Given the description of an element on the screen output the (x, y) to click on. 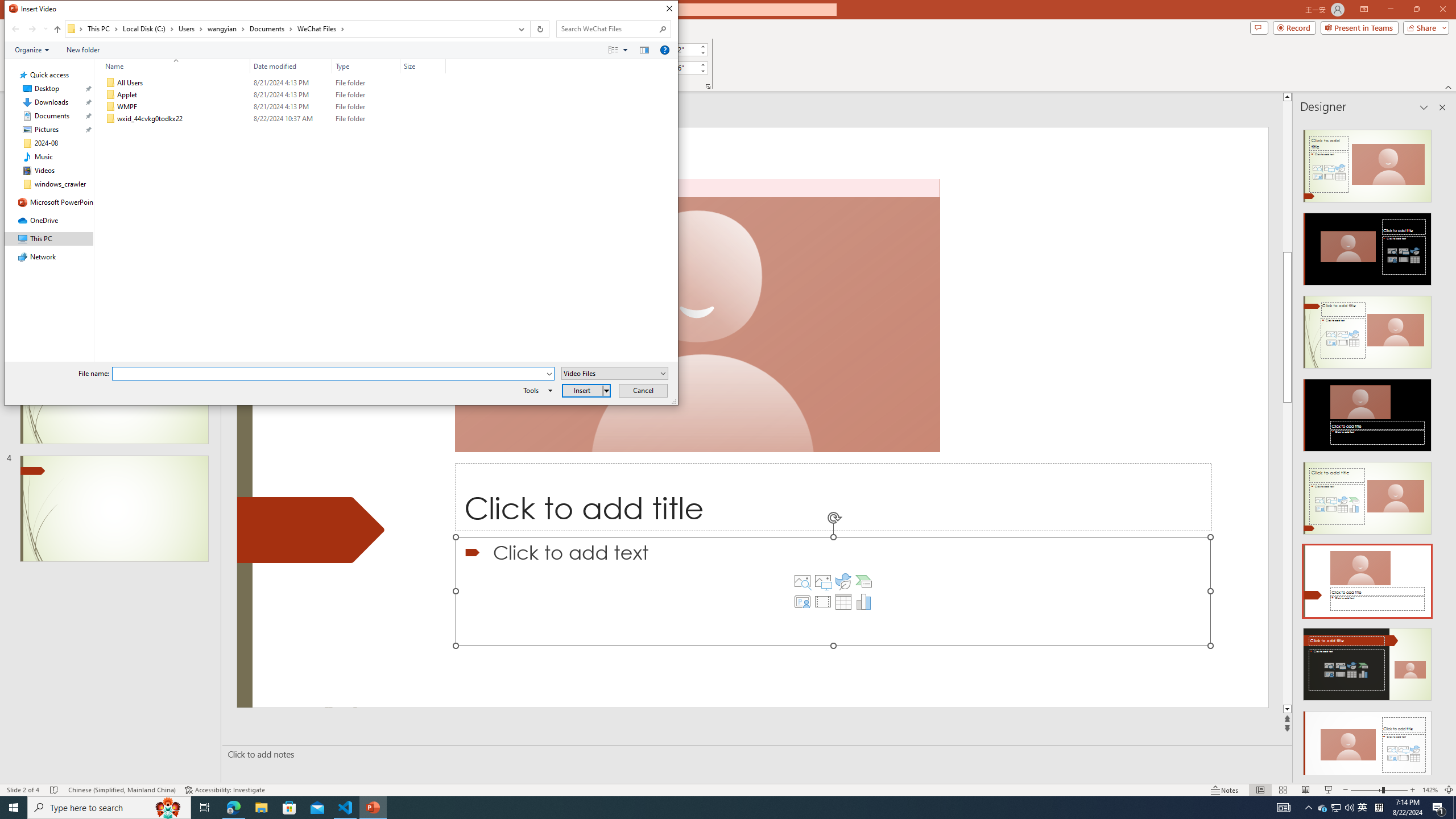
Up to "Documents" (Alt + Up Arrow) (57, 29)
Zoom 142% (1430, 790)
Command Module (341, 49)
New folder (82, 49)
File name: (333, 373)
Files of type: (615, 373)
Slide Notes (754, 754)
wxid_44cvkg0todkx22 (273, 119)
This PC (102, 28)
Filter dropdown (440, 65)
PowerPoint - 1 running window (373, 807)
